Given the description of an element on the screen output the (x, y) to click on. 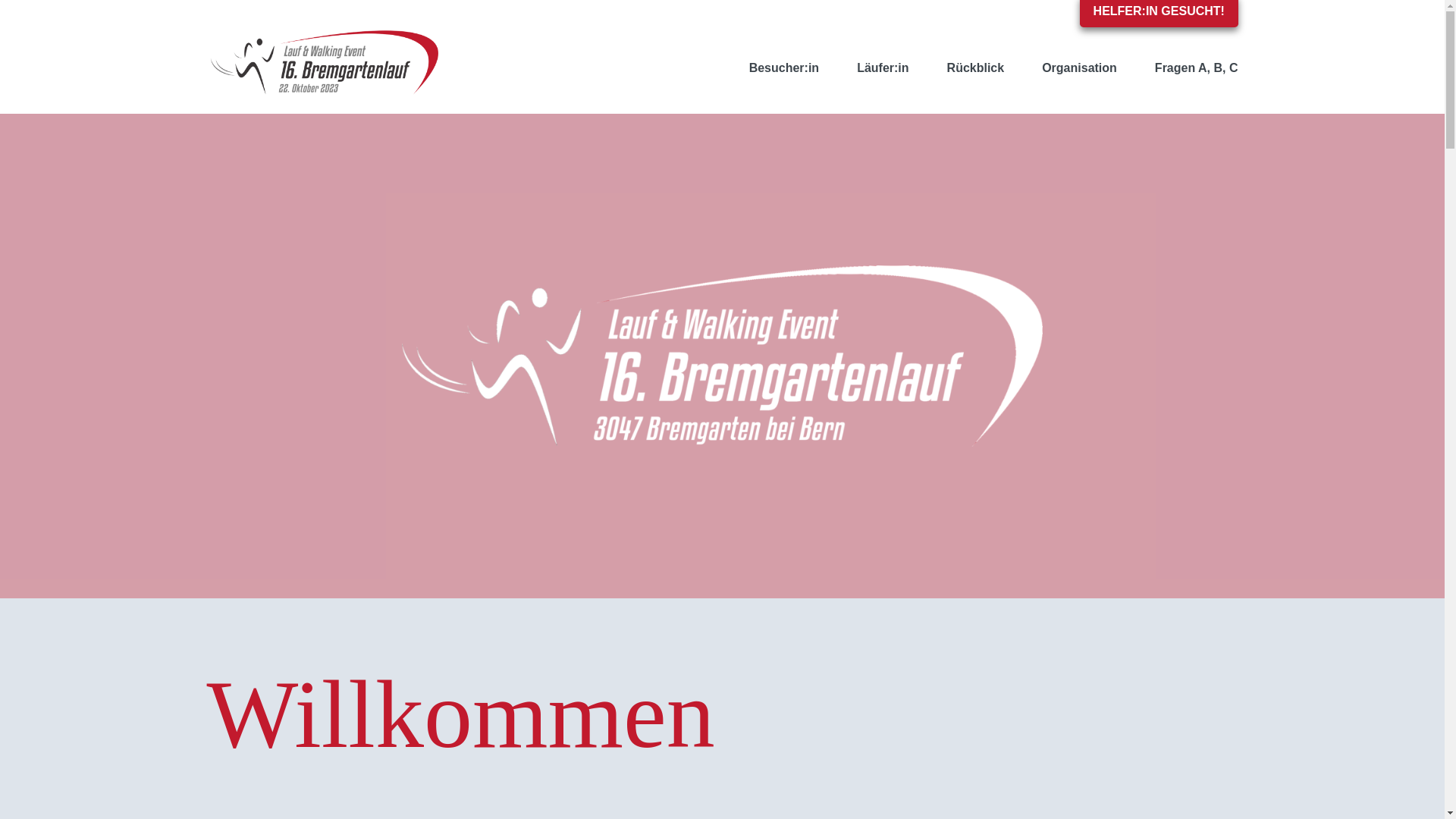
Organisation Element type: text (1078, 67)
Besucher:in Element type: text (783, 67)
Fragen A, B, C Element type: text (1196, 67)
